Given the description of an element on the screen output the (x, y) to click on. 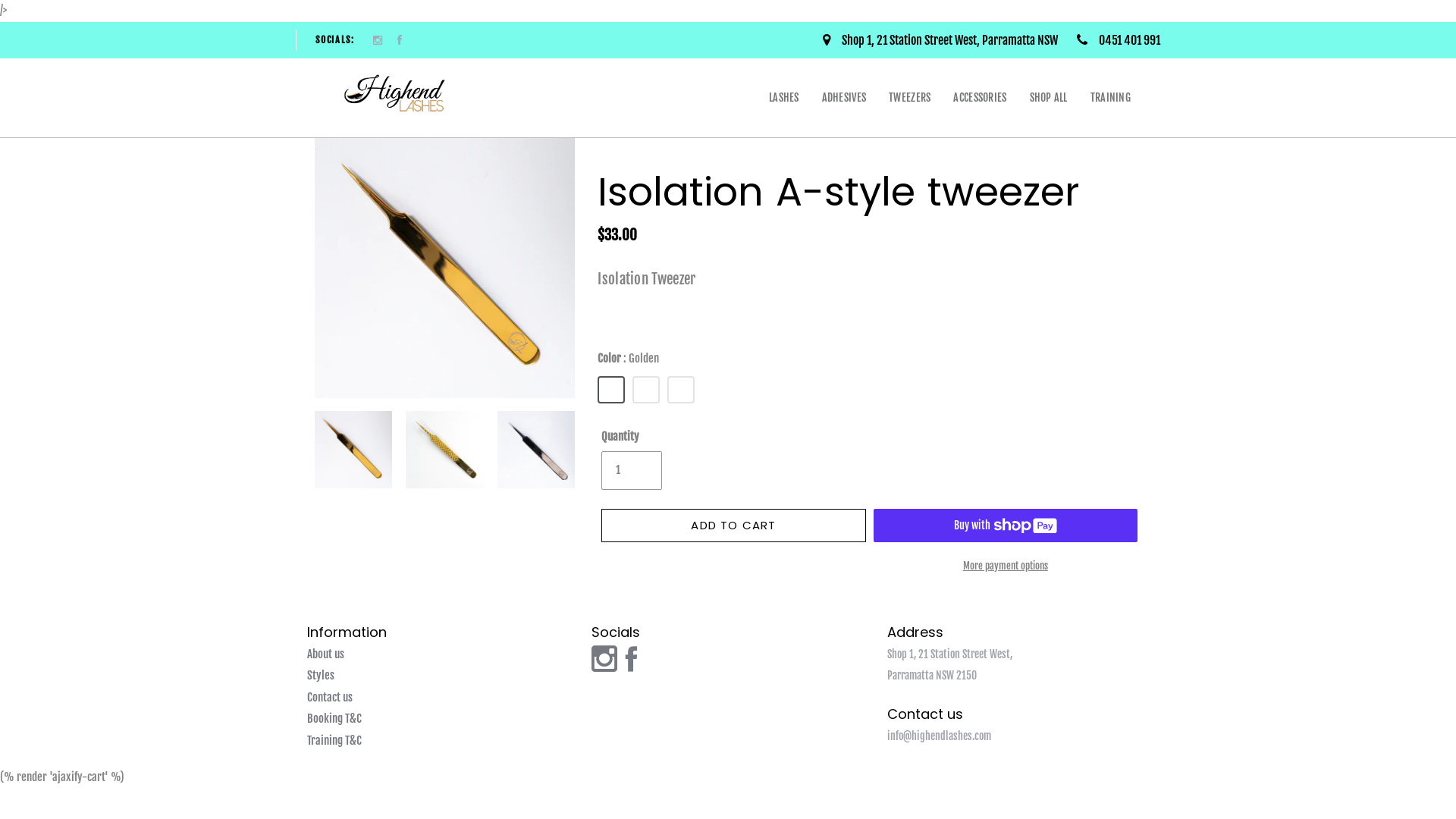
SHOP ALL Element type: text (1048, 97)
Styles Element type: text (320, 676)
Booking T&C Element type: text (334, 719)
ADD TO CART Element type: text (733, 525)
Training T&C Element type: text (334, 741)
More payment options Element type: text (1005, 565)
ADHESIVES Element type: text (844, 97)
Contact us Element type: text (329, 698)
TWEEZERS Element type: text (909, 97)
About us Element type: text (325, 654)
ACCESSORIES Element type: text (979, 97)
TRAINING Element type: text (1110, 97)
LASHES Element type: text (783, 97)
